Given the description of an element on the screen output the (x, y) to click on. 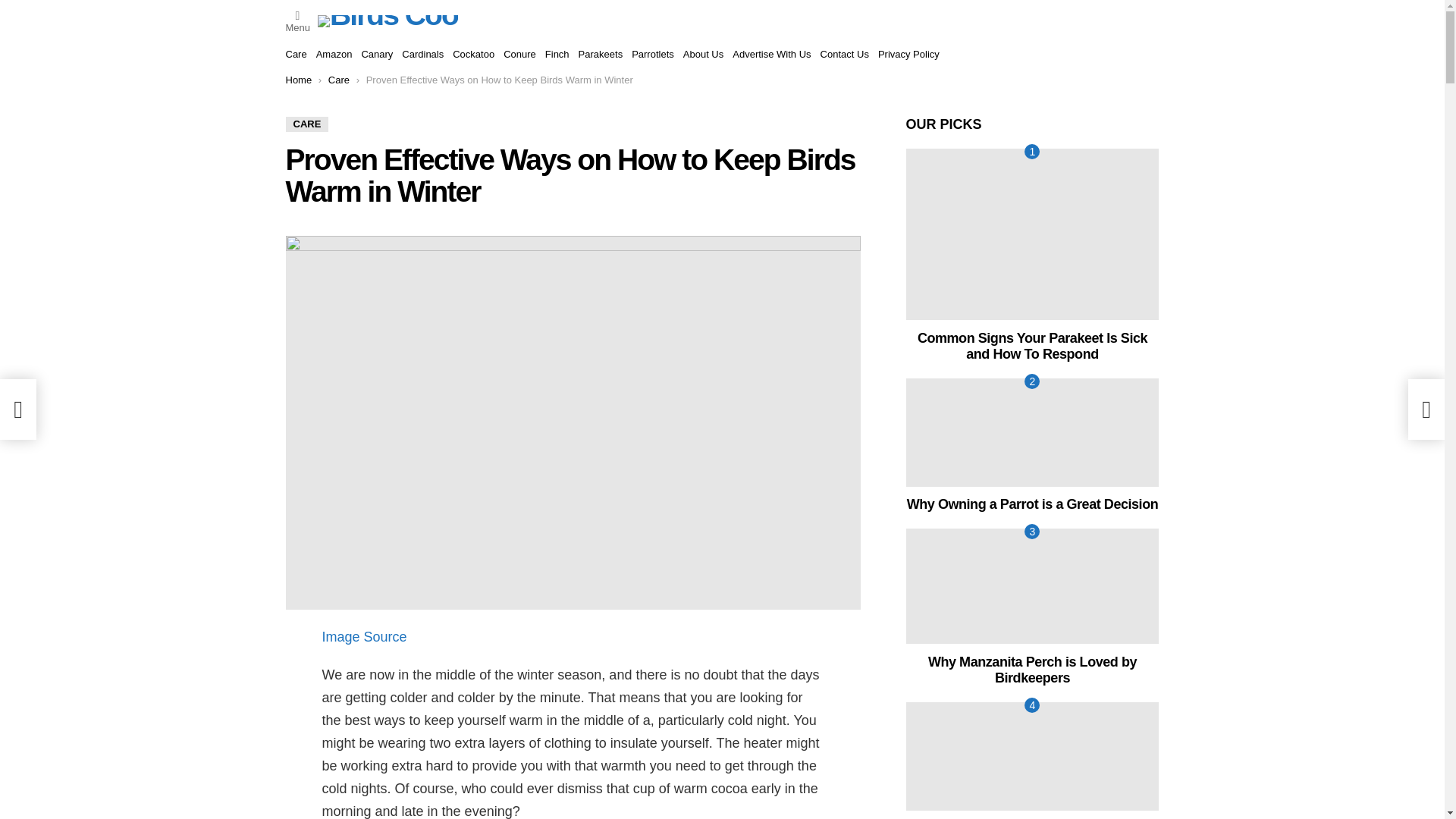
Contact Us (845, 54)
Amazon (333, 54)
Privacy Policy (908, 54)
Care (339, 79)
CARE (307, 124)
Conure (519, 54)
Common Signs Your Parakeet Is Sick and How To Respond (1031, 234)
Why Manzanita Perch is Loved by Birdkeepers (1031, 585)
Image Source (363, 636)
Care (295, 54)
Why Owning a Parrot is a Great Decision (1031, 432)
Menu (297, 20)
Finch (556, 54)
Cockatoo (473, 54)
Advertise With Us (771, 54)
